Given the description of an element on the screen output the (x, y) to click on. 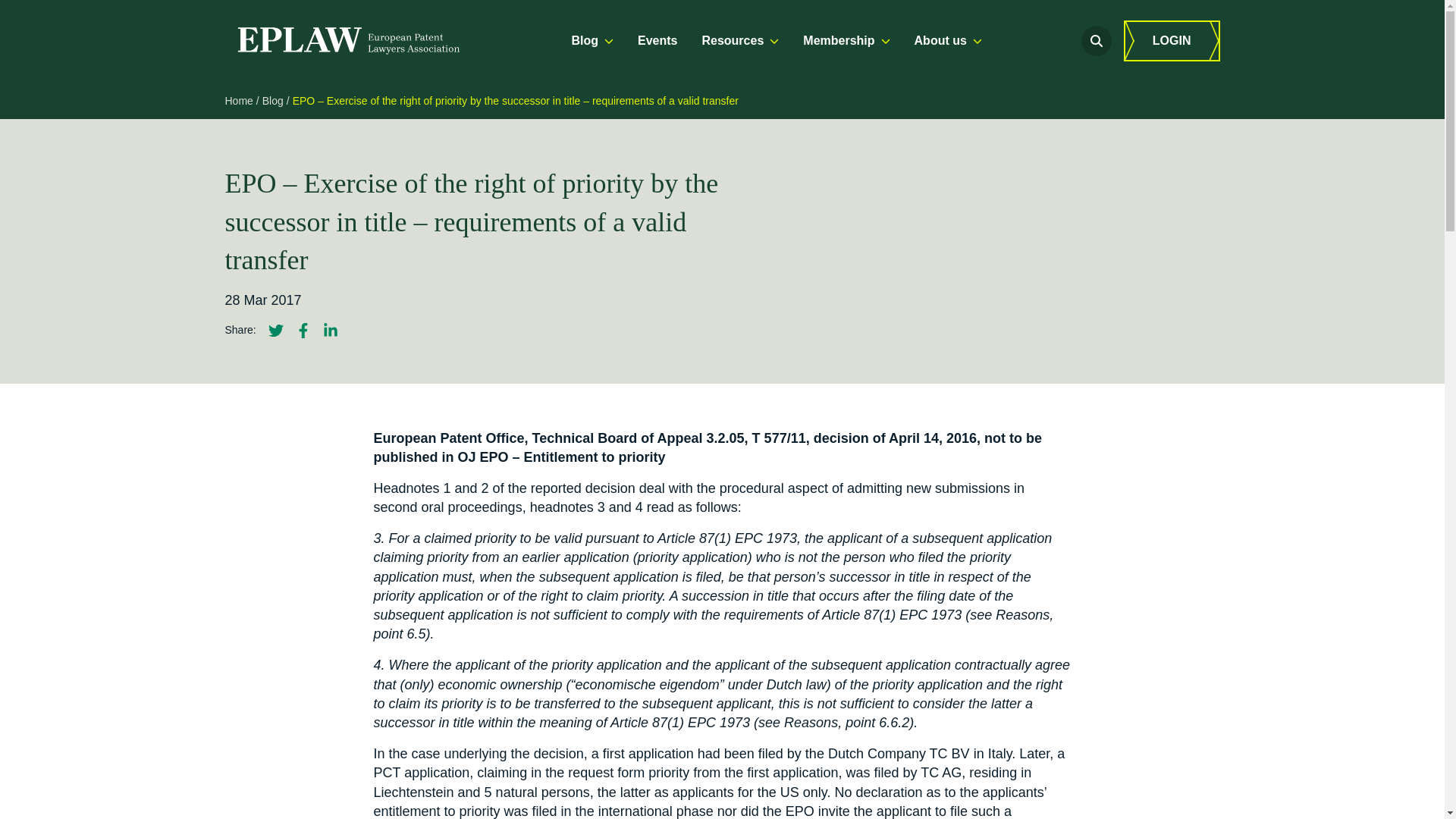
About us (947, 41)
EPLAW (347, 40)
Blog (591, 41)
Membership (846, 41)
Open search form (1096, 40)
Events (657, 41)
Resources (739, 41)
LOGIN (1172, 40)
